Given the description of an element on the screen output the (x, y) to click on. 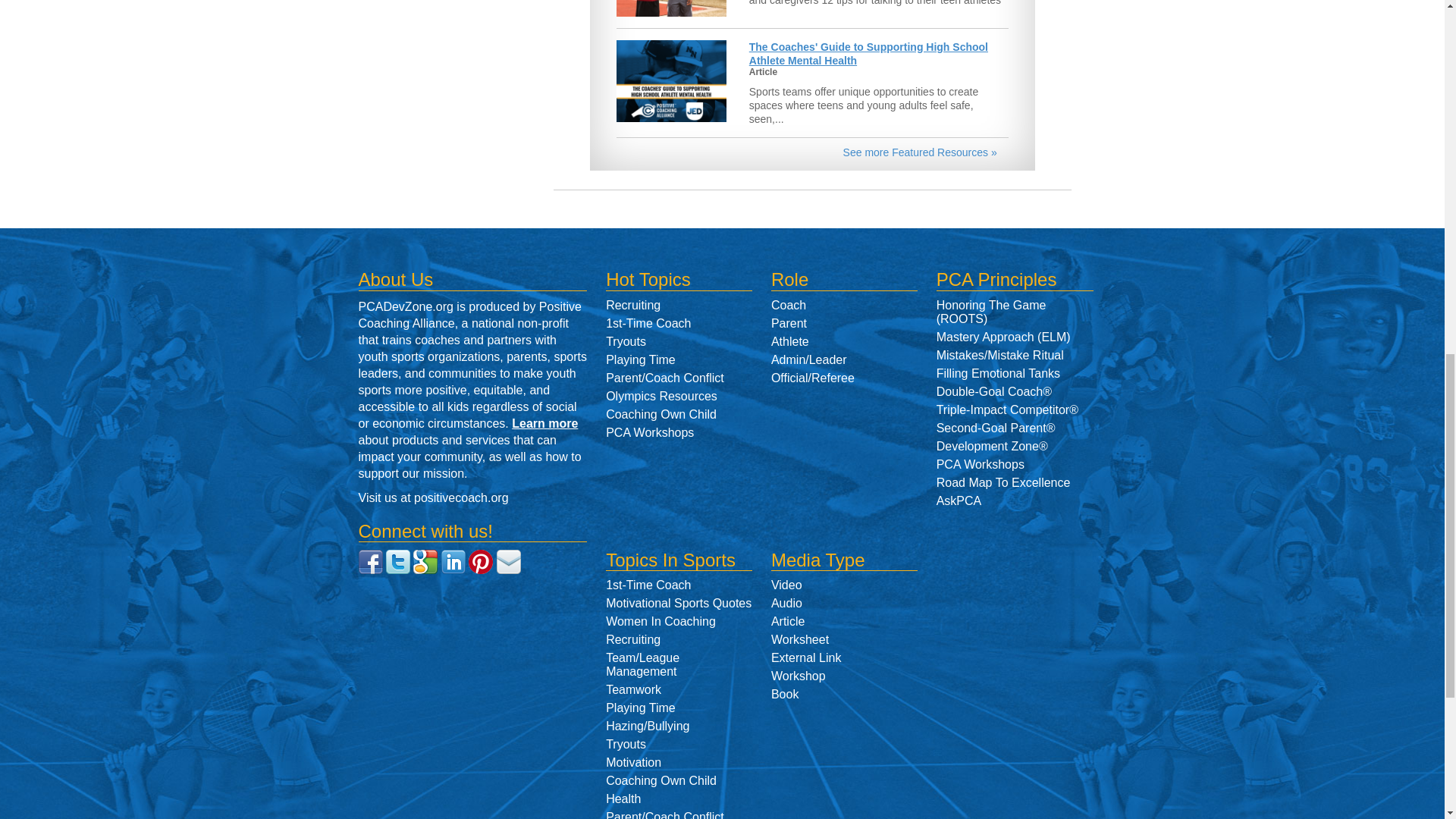
positivecoach.org (460, 497)
